Given the description of an element on the screen output the (x, y) to click on. 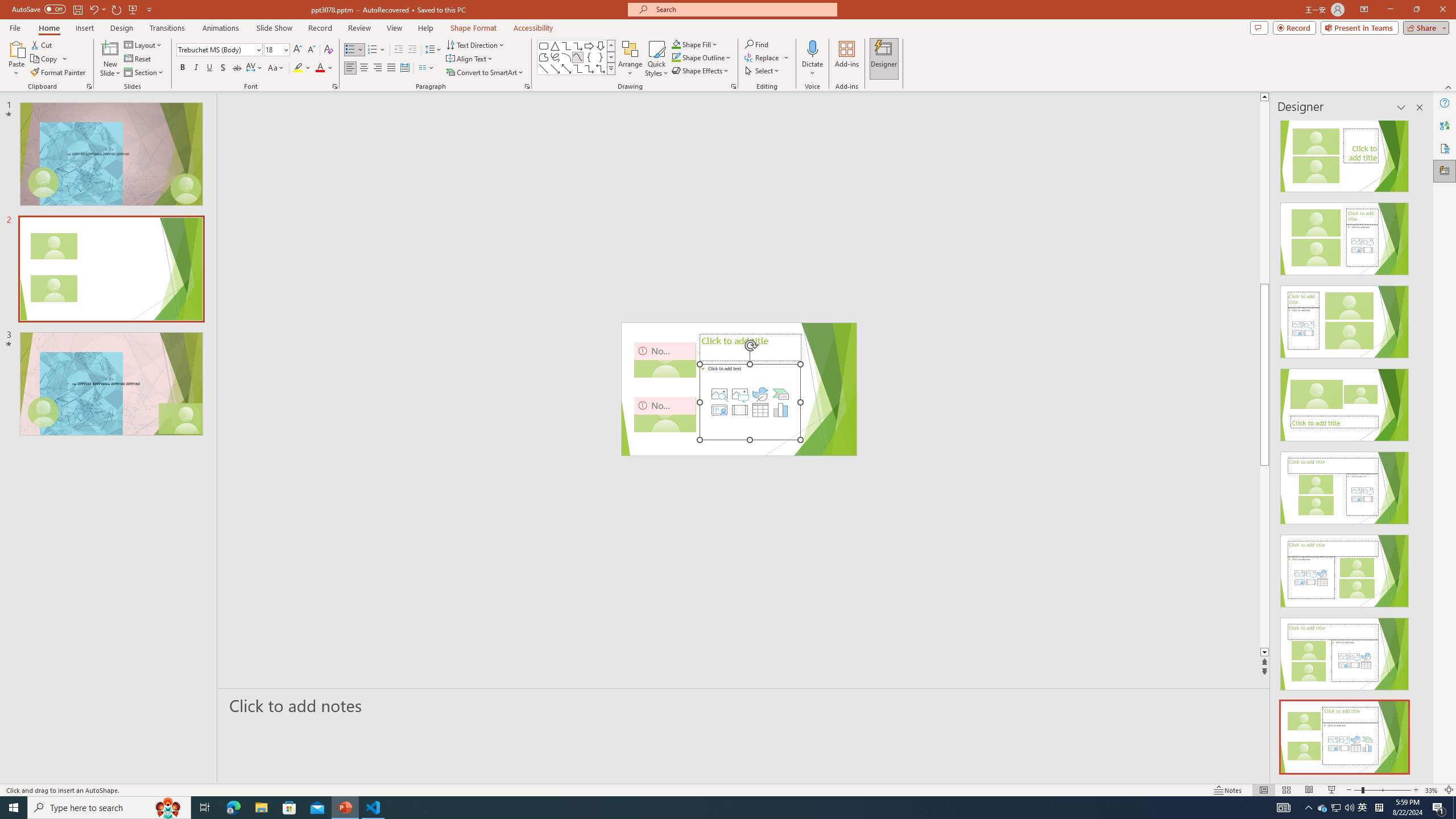
Insert Chart (780, 409)
Insert Table (760, 409)
